Given the description of an element on the screen output the (x, y) to click on. 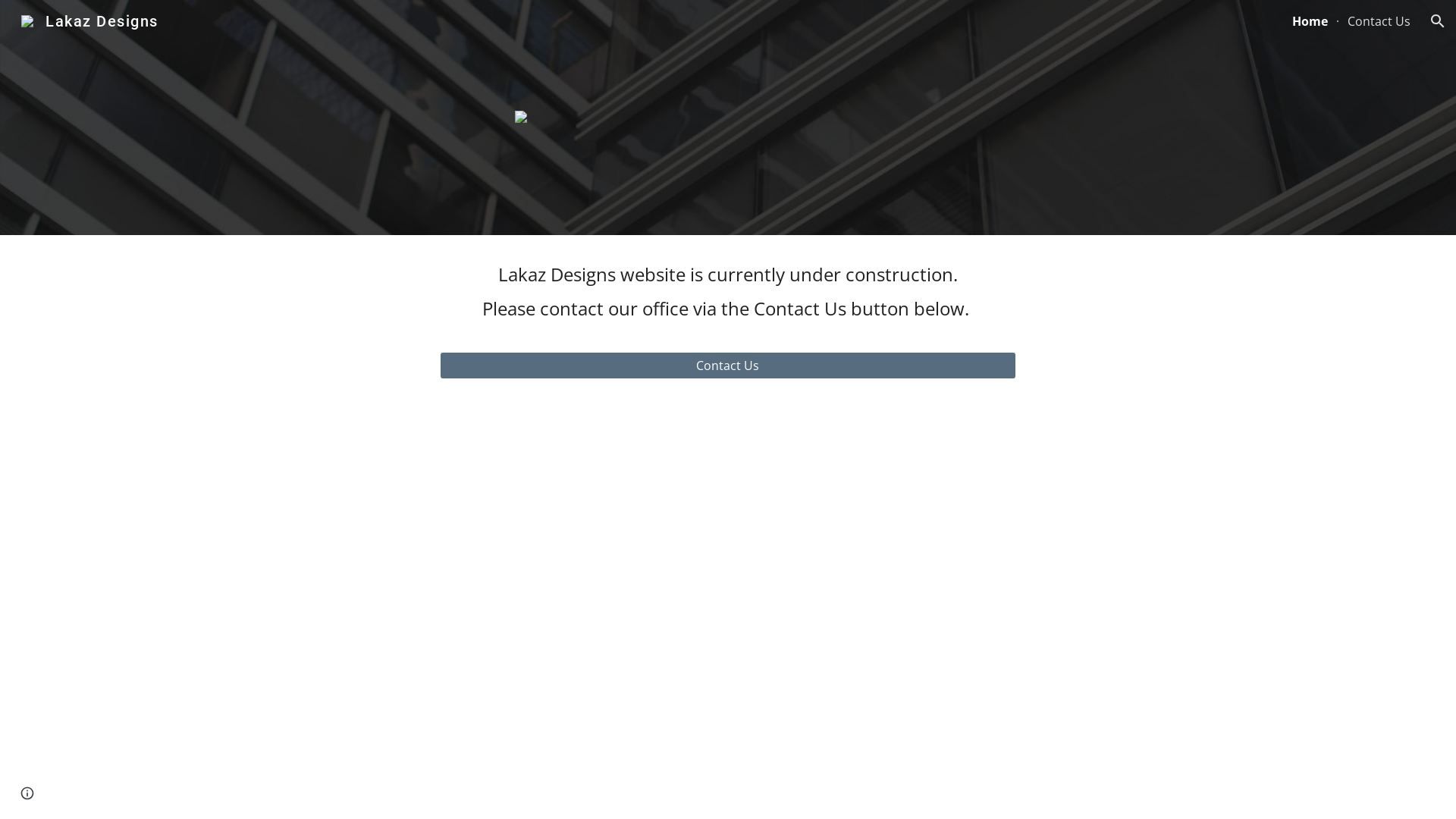
Contact Us Element type: text (727, 365)
Home Element type: text (1309, 20)
Lakaz Designs Element type: text (89, 19)
Contact Us Element type: text (1378, 20)
